Given the description of an element on the screen output the (x, y) to click on. 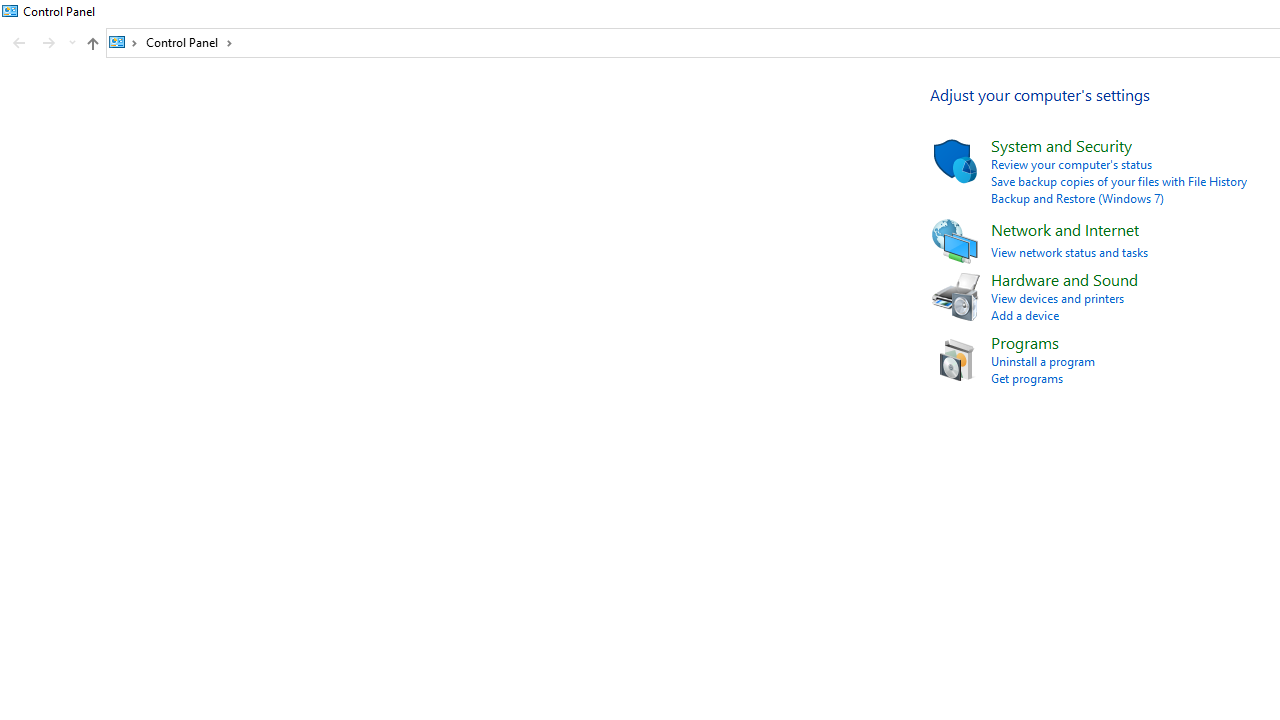
System (10, 11)
Review your computer's status (1071, 164)
Icon (954, 358)
Navigation buttons (41, 43)
Backup and Restore (Windows 7) (1077, 197)
All locations (124, 42)
Up to "Desktop" (Alt + Up Arrow) (92, 43)
Network and Internet (1064, 228)
System and Security (1061, 145)
View devices and printers (1057, 298)
Back (Alt + Left Arrow) (18, 43)
Get programs (1026, 377)
Recent locations (71, 43)
Programs (1025, 341)
Up band toolbar (92, 46)
